Given the description of an element on the screen output the (x, y) to click on. 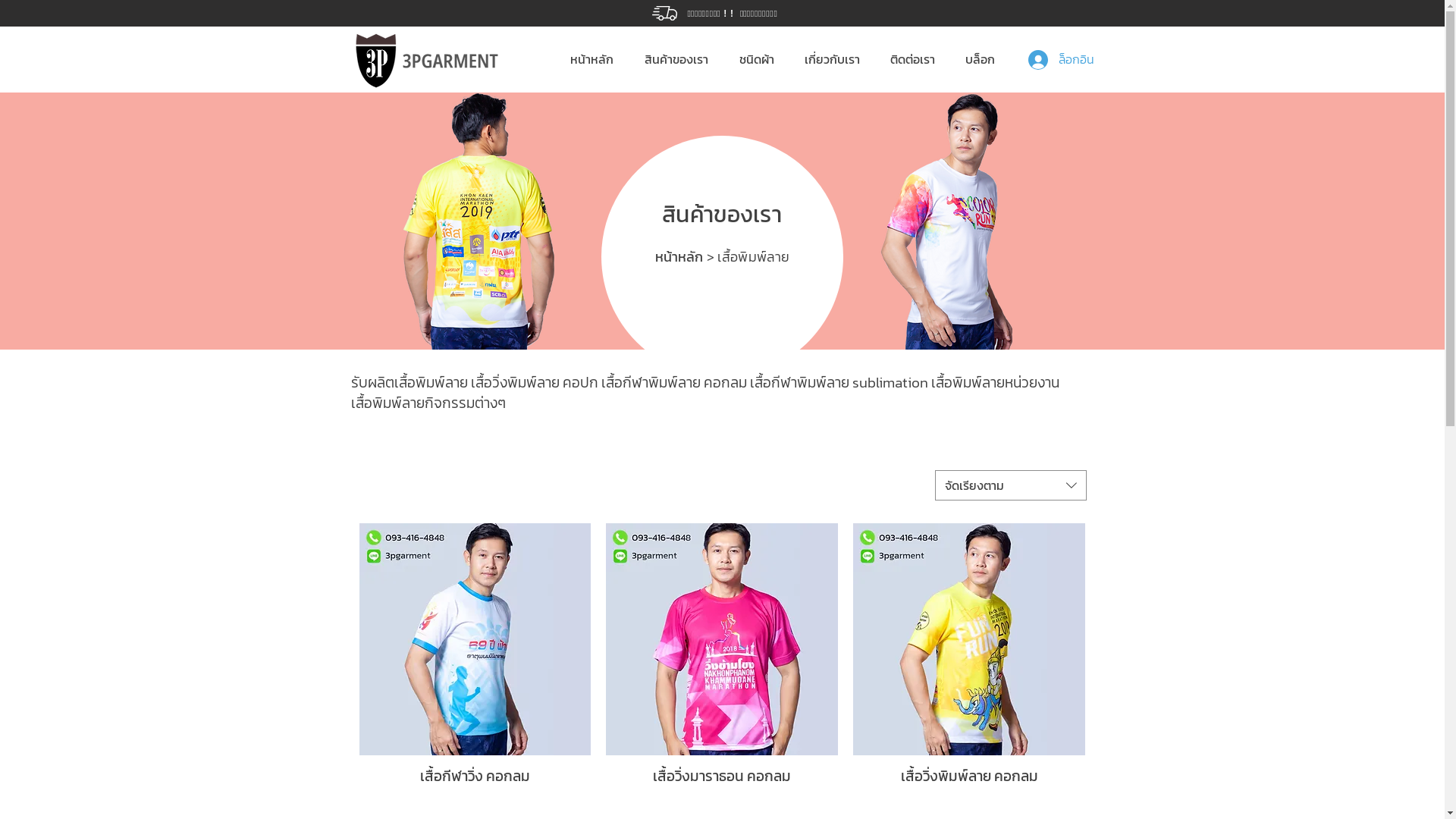
transport.png Element type: hover (664, 13)
transport.png Element type: hover (559, 342)
